Given the description of an element on the screen output the (x, y) to click on. 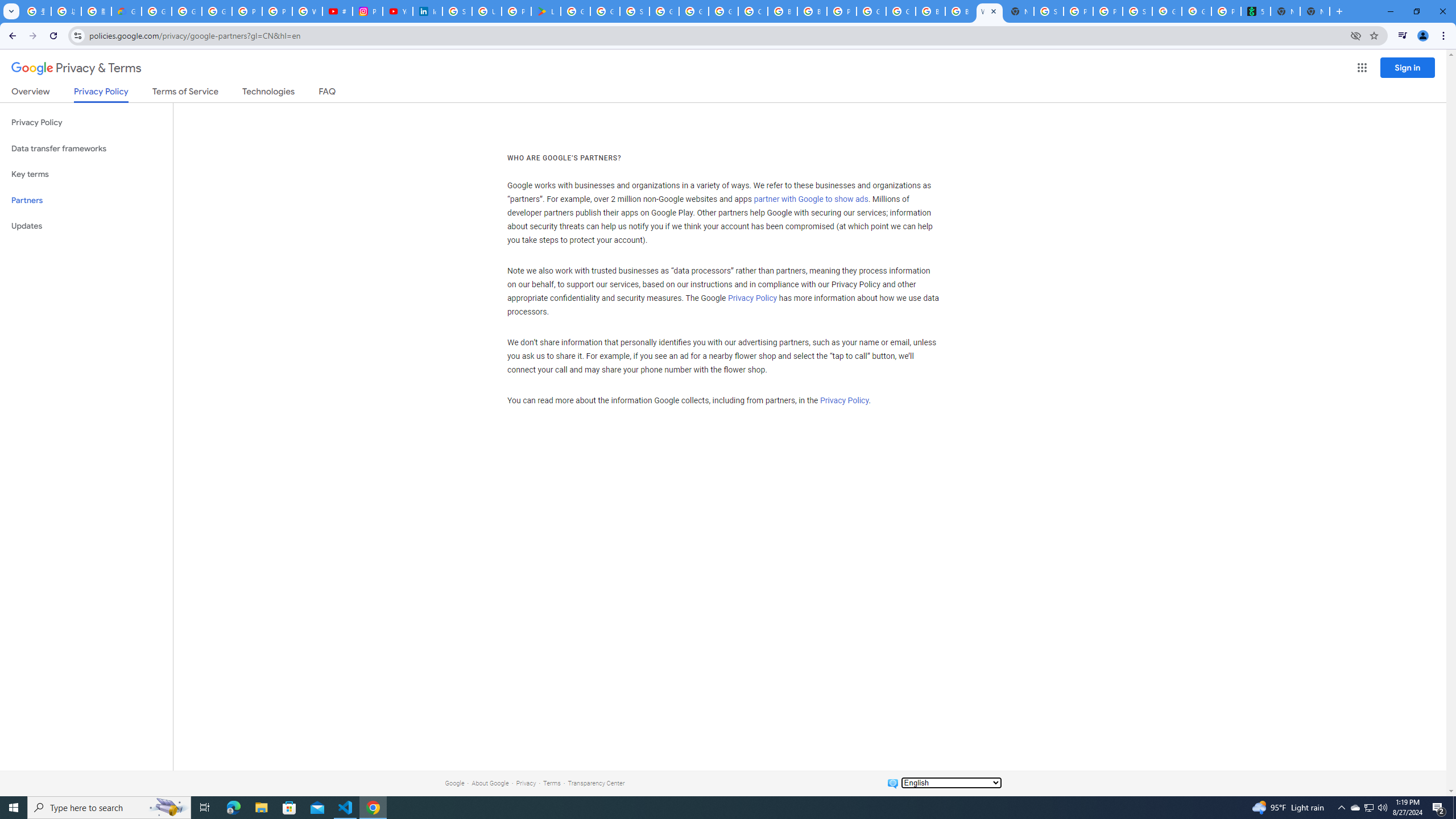
Key terms (86, 174)
Google Workspace - Specific Terms (604, 11)
YouTube Culture & Trends - On The Rise: Handcam Videos (397, 11)
Change language: (951, 782)
Browse Chrome as a guest - Computer - Google Chrome Help (782, 11)
New Tab (1018, 11)
